Given the description of an element on the screen output the (x, y) to click on. 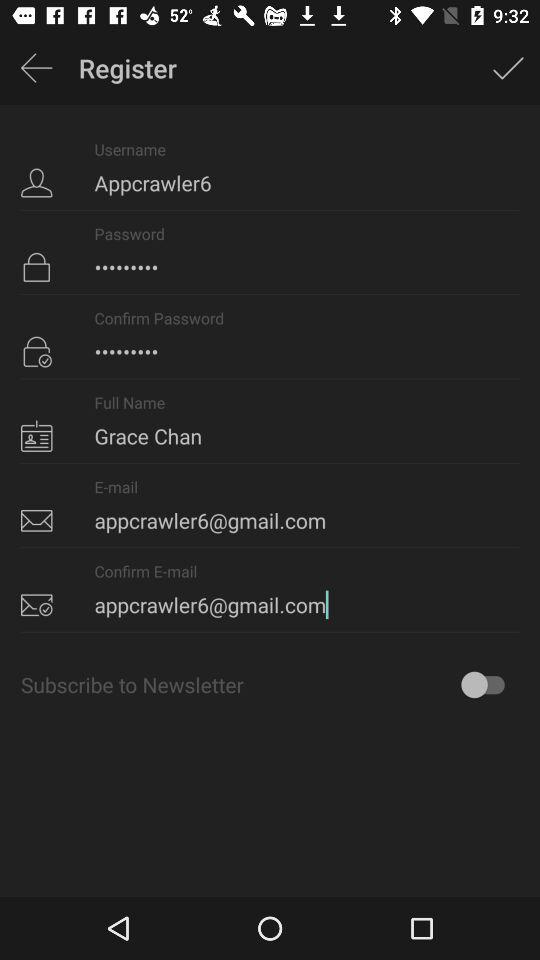
go back (36, 68)
